Given the description of an element on the screen output the (x, y) to click on. 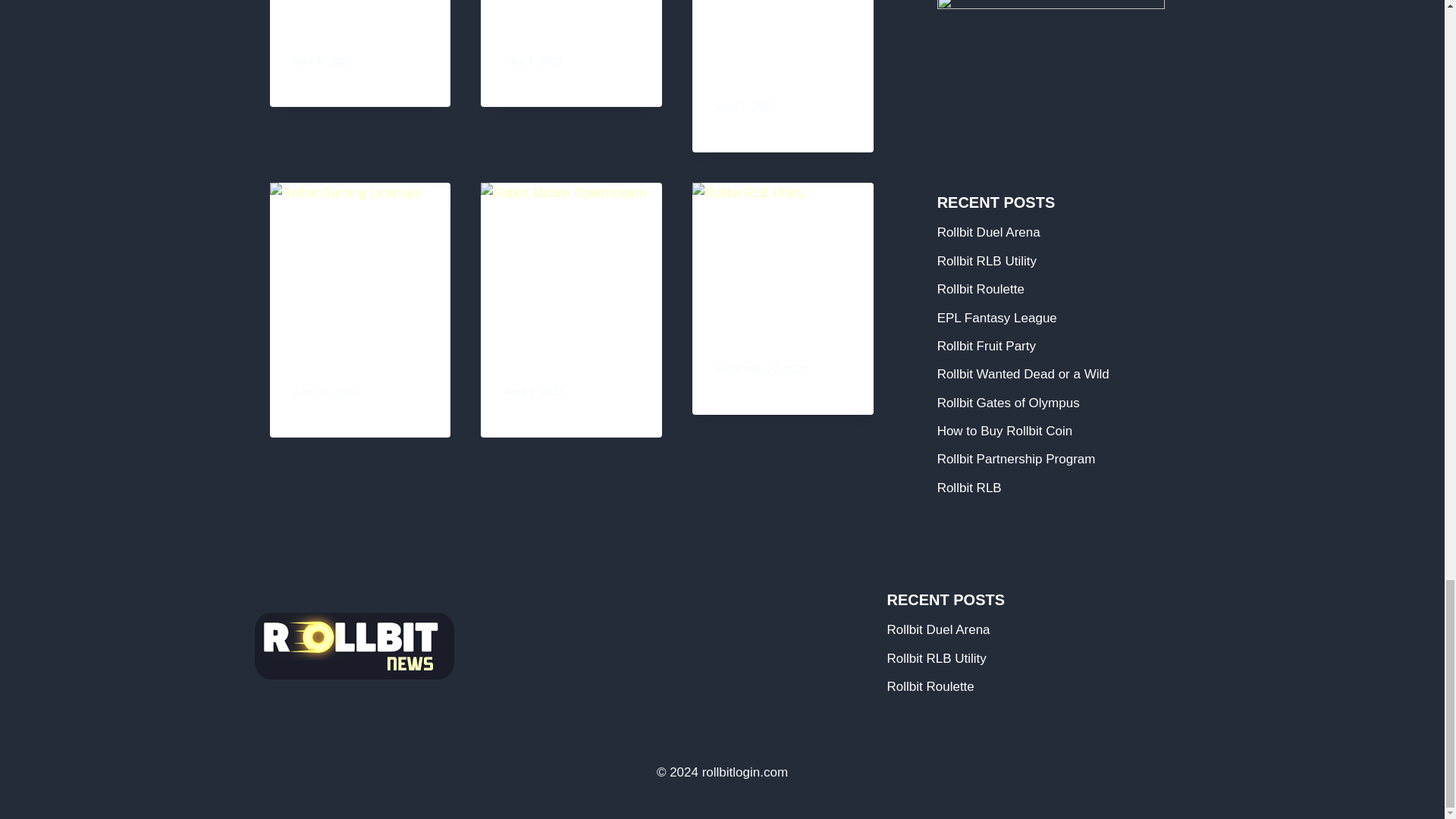
Rollbit Mobile Optimization (554, 350)
Rollbit Giveaways (569, 31)
Rollbit Gaming Licenses (347, 350)
Rollbit RLB Utility (780, 338)
Rollbit Progressive Jackpots (759, 54)
Rollbit News (339, 31)
